Given the description of an element on the screen output the (x, y) to click on. 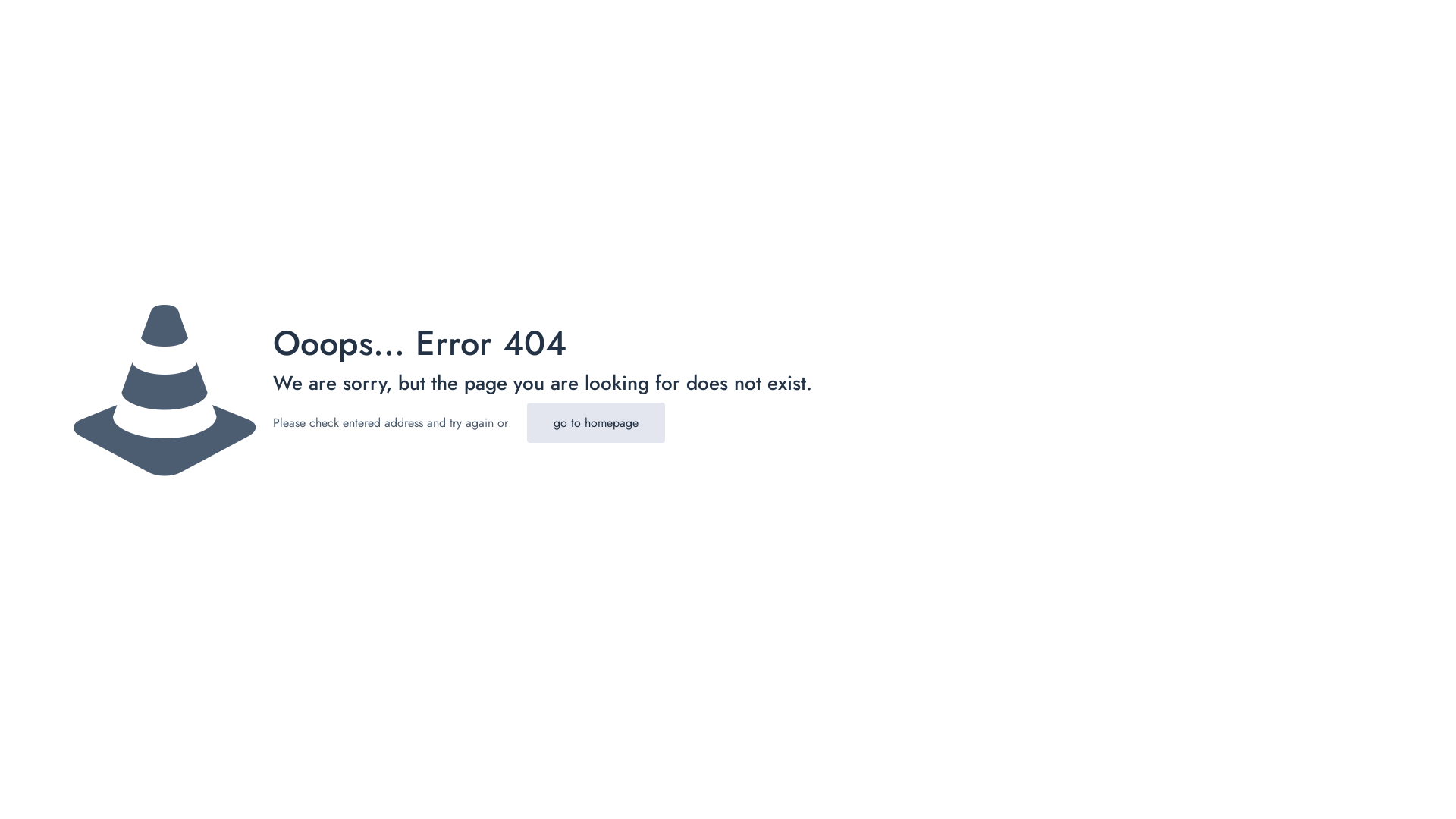
go to homepage Element type: text (596, 422)
